Given the description of an element on the screen output the (x, y) to click on. 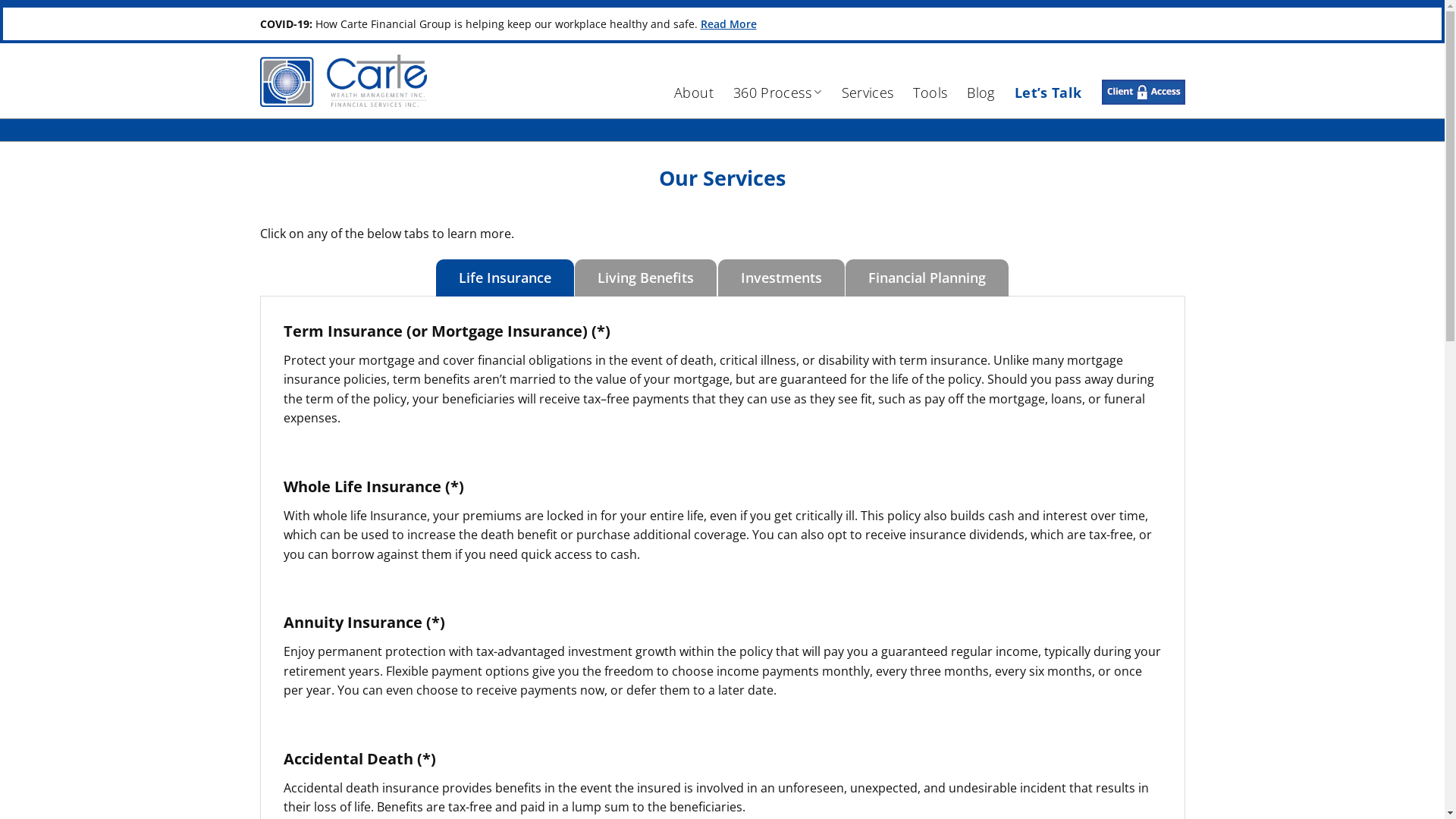
Services Element type: text (867, 92)
Tools Element type: text (930, 92)
Ken Wright - Your Carte Financial Advisor Element type: hover (342, 80)
About Element type: text (693, 92)
Living Benefits Element type: text (645, 277)
Blog Element type: text (980, 92)
Life Insurance Element type: text (505, 277)
Financial Planning Element type: text (926, 277)
Read More Element type: text (728, 23)
Investments Element type: text (781, 277)
360 Process Element type: text (777, 91)
